Given the description of an element on the screen output the (x, y) to click on. 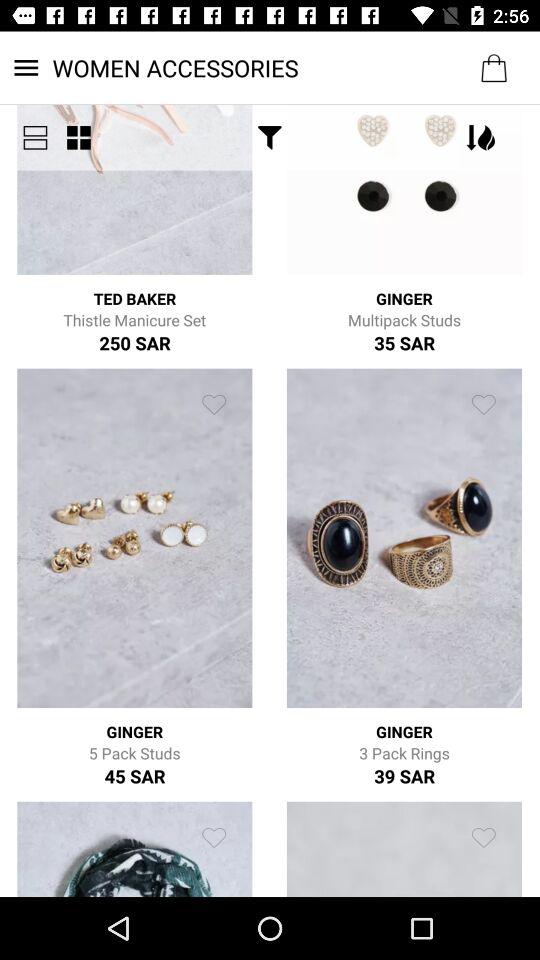
click on the top left button in first image (34, 137)
click on the second image in the second row (403, 538)
click on the top button in first row second image (483, 137)
click on the first image in the second row (134, 538)
